Given the description of an element on the screen output the (x, y) to click on. 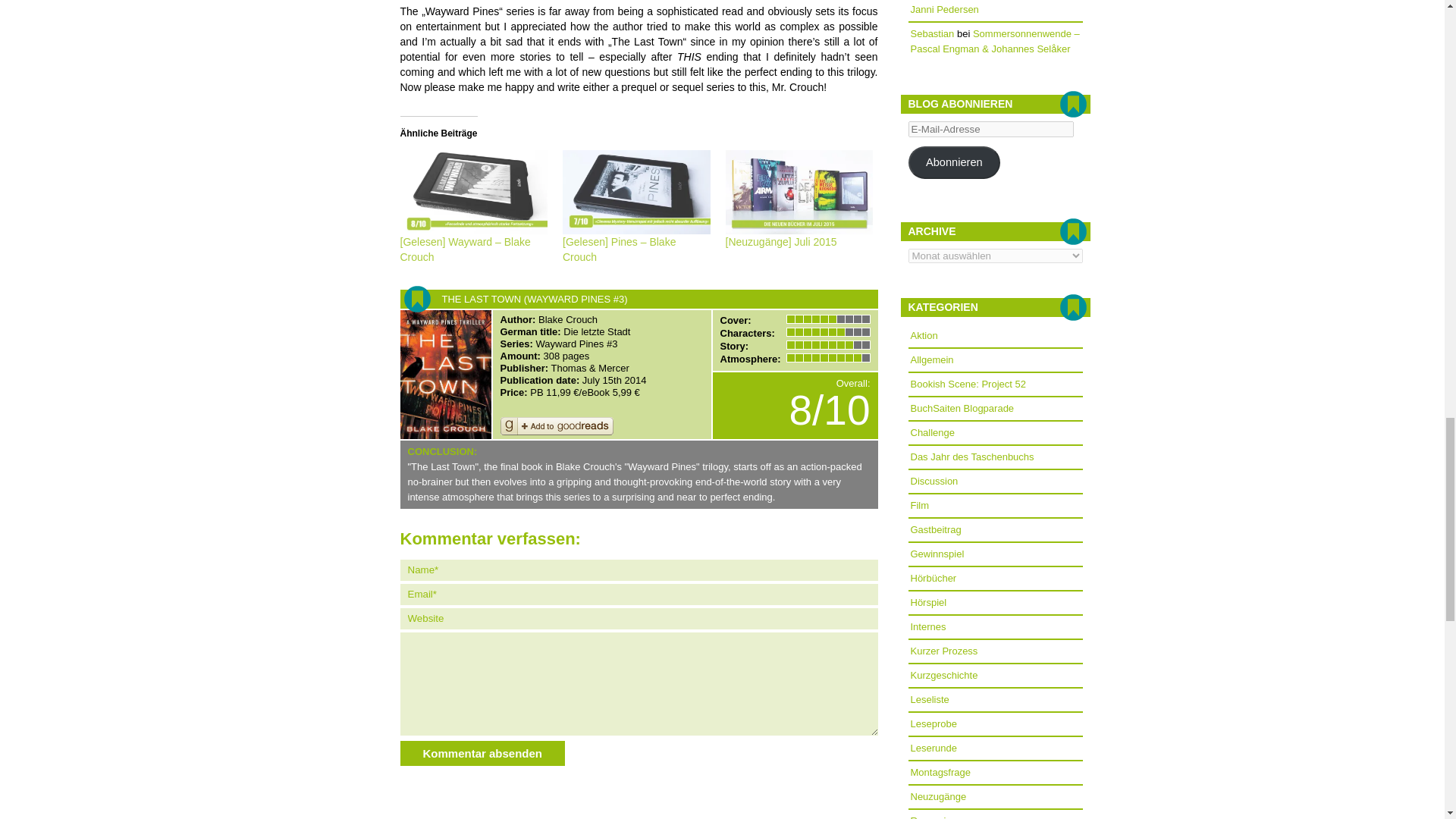
Kommentar absenden (483, 753)
Blake Crouch (567, 319)
Website (638, 618)
Kommentar absenden (483, 753)
